Given the description of an element on the screen output the (x, y) to click on. 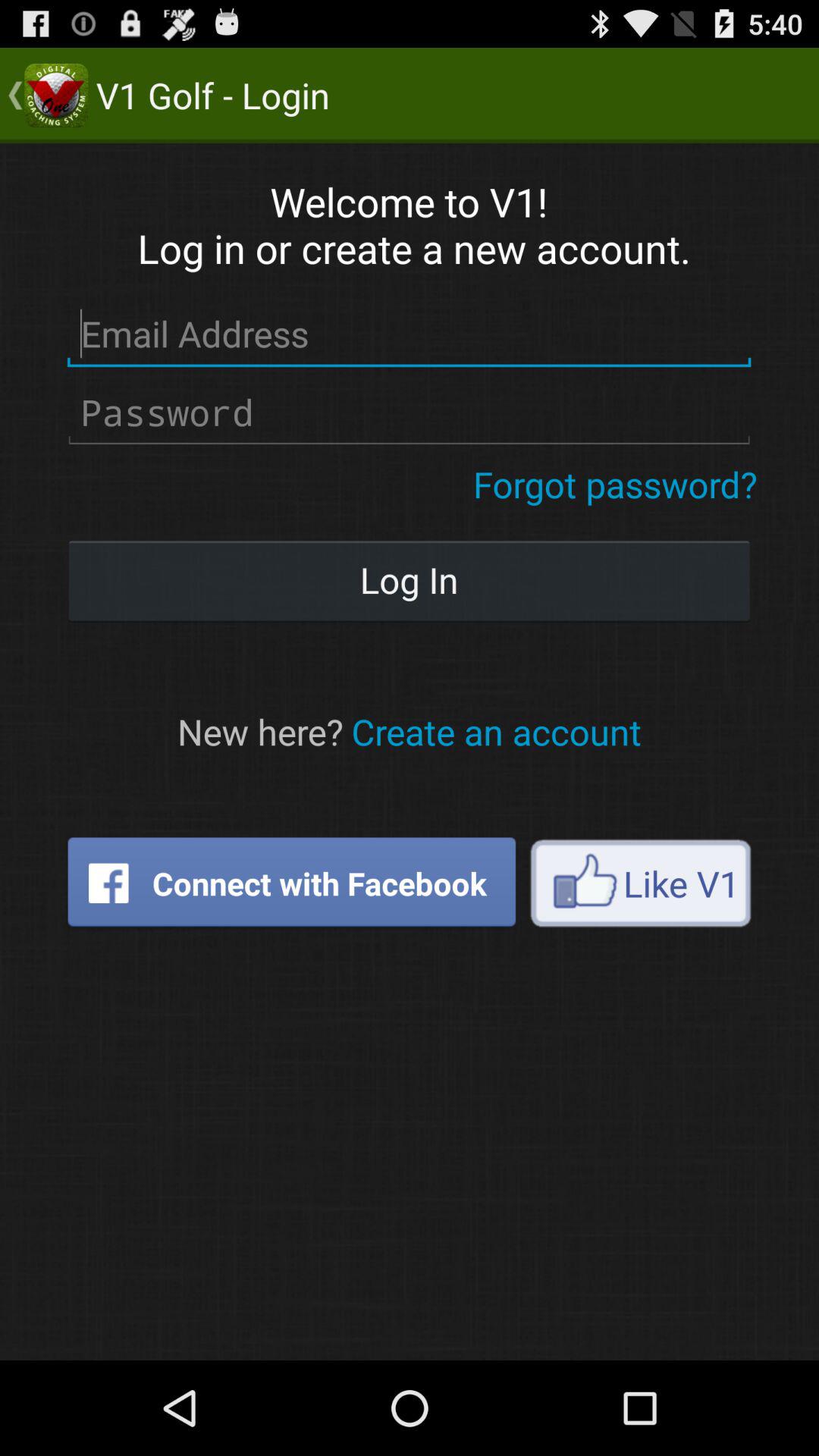
select icon at the top right corner (615, 484)
